Given the description of an element on the screen output the (x, y) to click on. 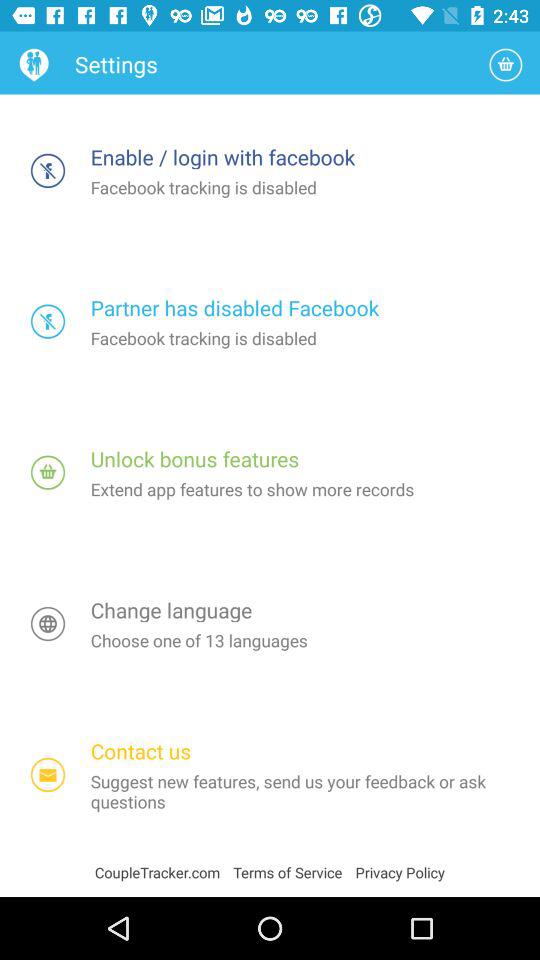
connect with facebook (47, 170)
